Given the description of an element on the screen output the (x, y) to click on. 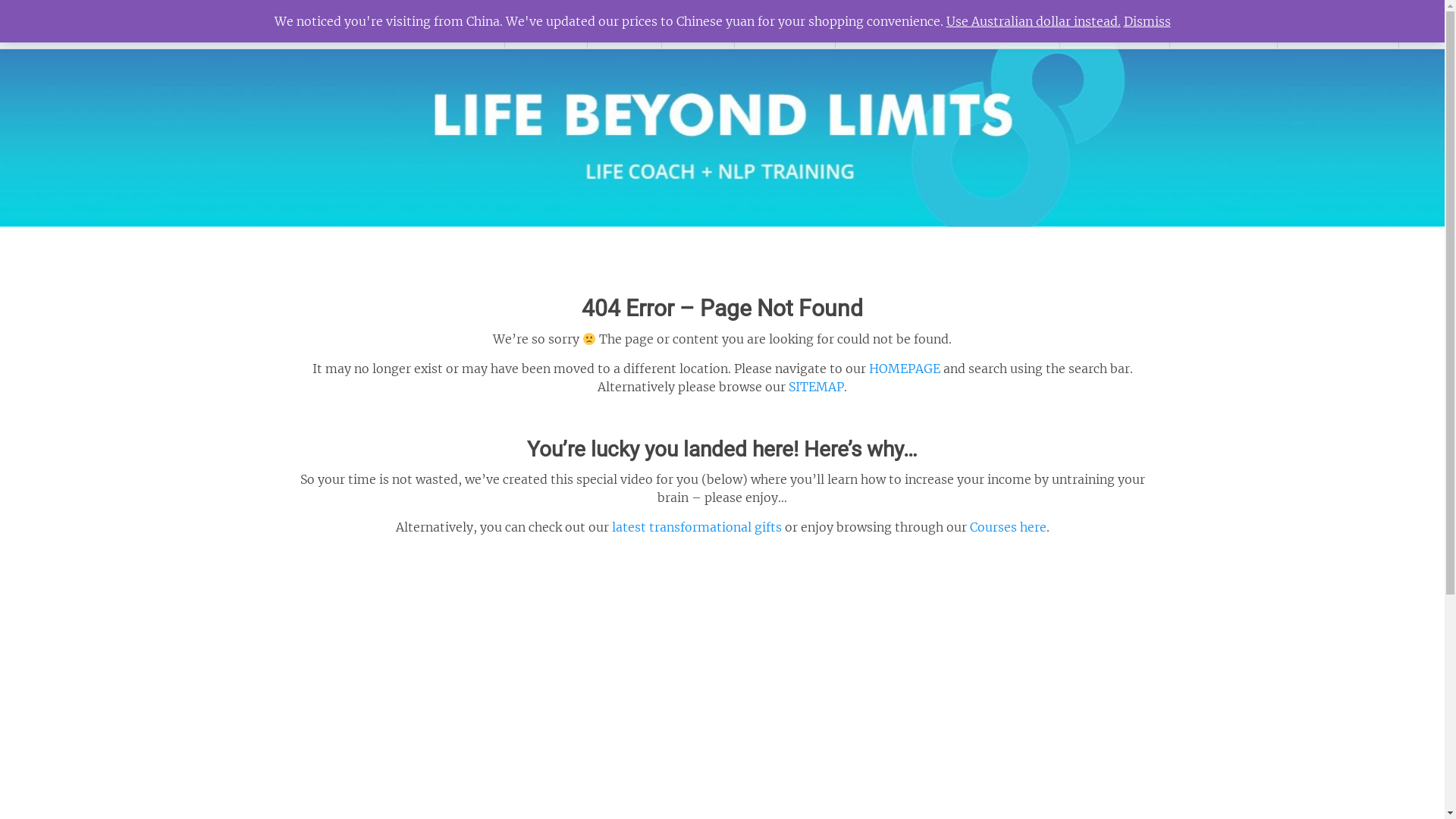
latest transformational gifts Element type: text (696, 526)
FREE GIFTS Element type: text (1114, 24)
Dismiss Element type: text (1146, 20)
LIFE BEYOND LIMITS Element type: text (145, 24)
COACHING Element type: text (1223, 24)
TRAINING Element type: text (784, 24)
SITEMAP Element type: text (816, 386)
CART Element type: text (698, 24)
Courses here Element type: text (1007, 526)
HOMEPAGE Element type: text (904, 368)
SHOP Element type: text (624, 24)
Free Life Coach + NLP Training Element type: text (947, 24)
ABOUT Element type: text (545, 24)
Use Australian dollar instead. Element type: text (1033, 20)
CONTACT US Element type: text (1337, 24)
